Given the description of an element on the screen output the (x, y) to click on. 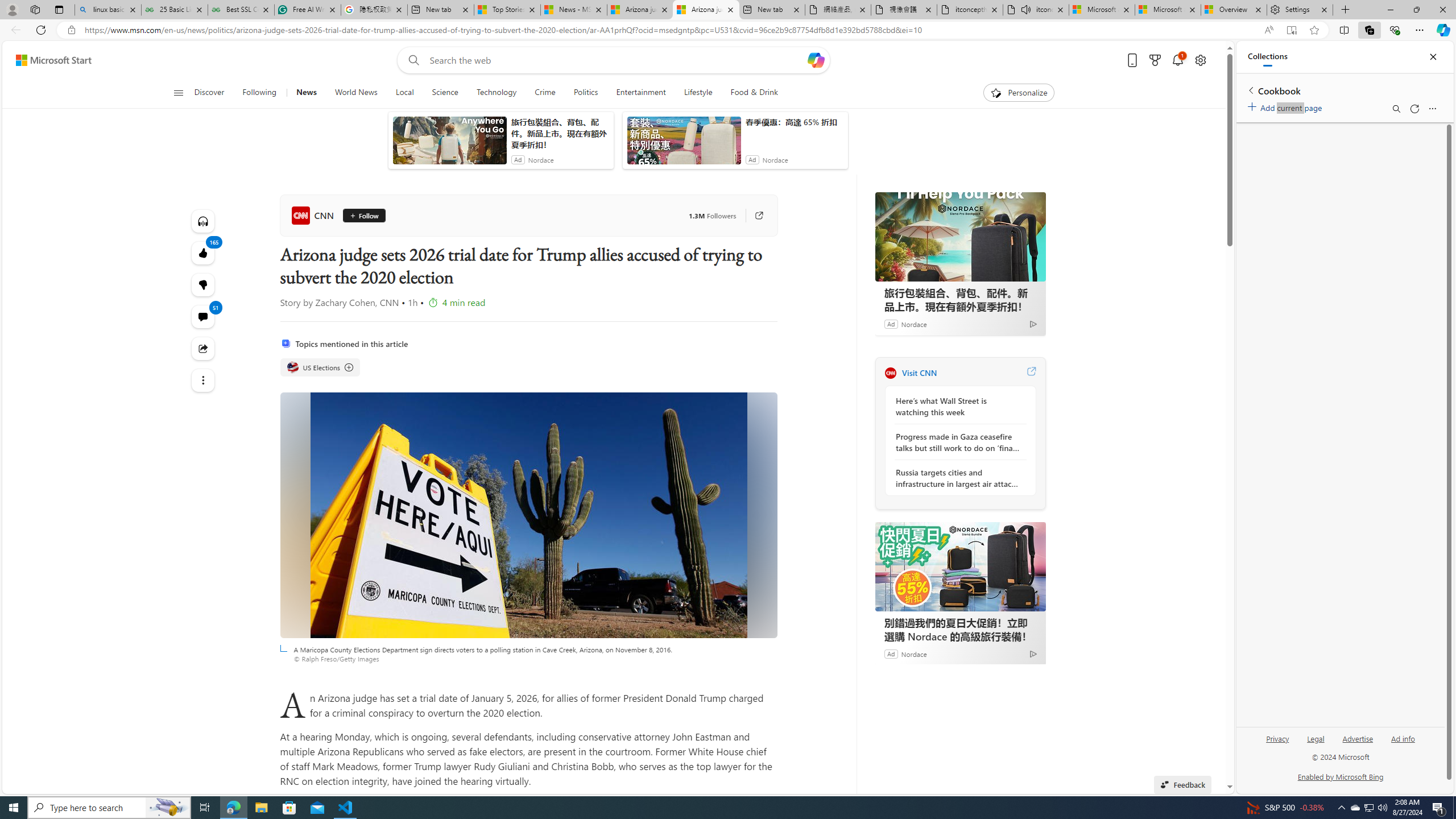
Crime (545, 92)
Add current page (1286, 105)
Personalize (1019, 92)
Science (444, 92)
Ad info (1402, 742)
Entertainment (640, 92)
CNN (314, 215)
Enter your search term (617, 59)
Open navigation menu (177, 92)
linux basic - Search (107, 9)
Web search (411, 60)
US Elections (292, 367)
